Given the description of an element on the screen output the (x, y) to click on. 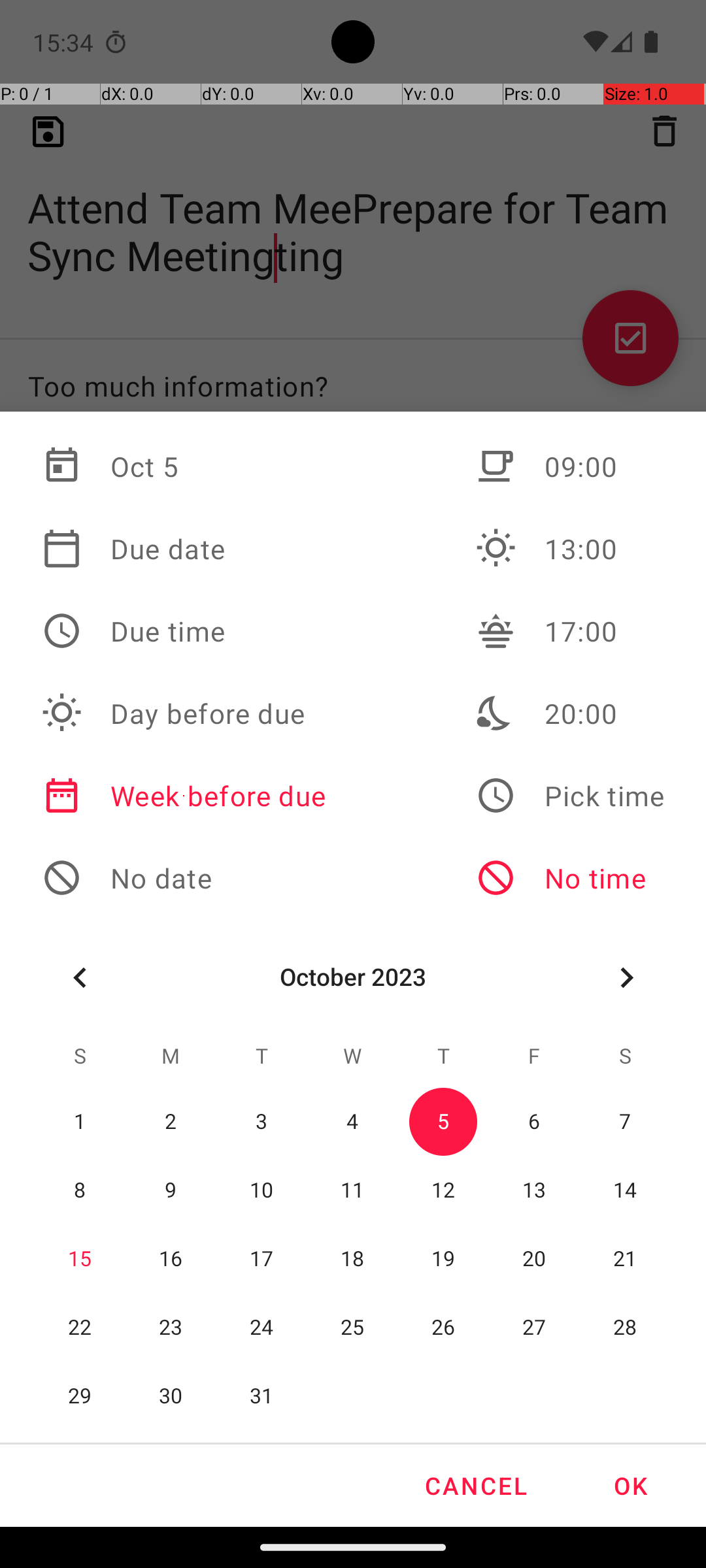
Oct 5 Element type: android.widget.CompoundButton (183, 466)
